Given the description of an element on the screen output the (x, y) to click on. 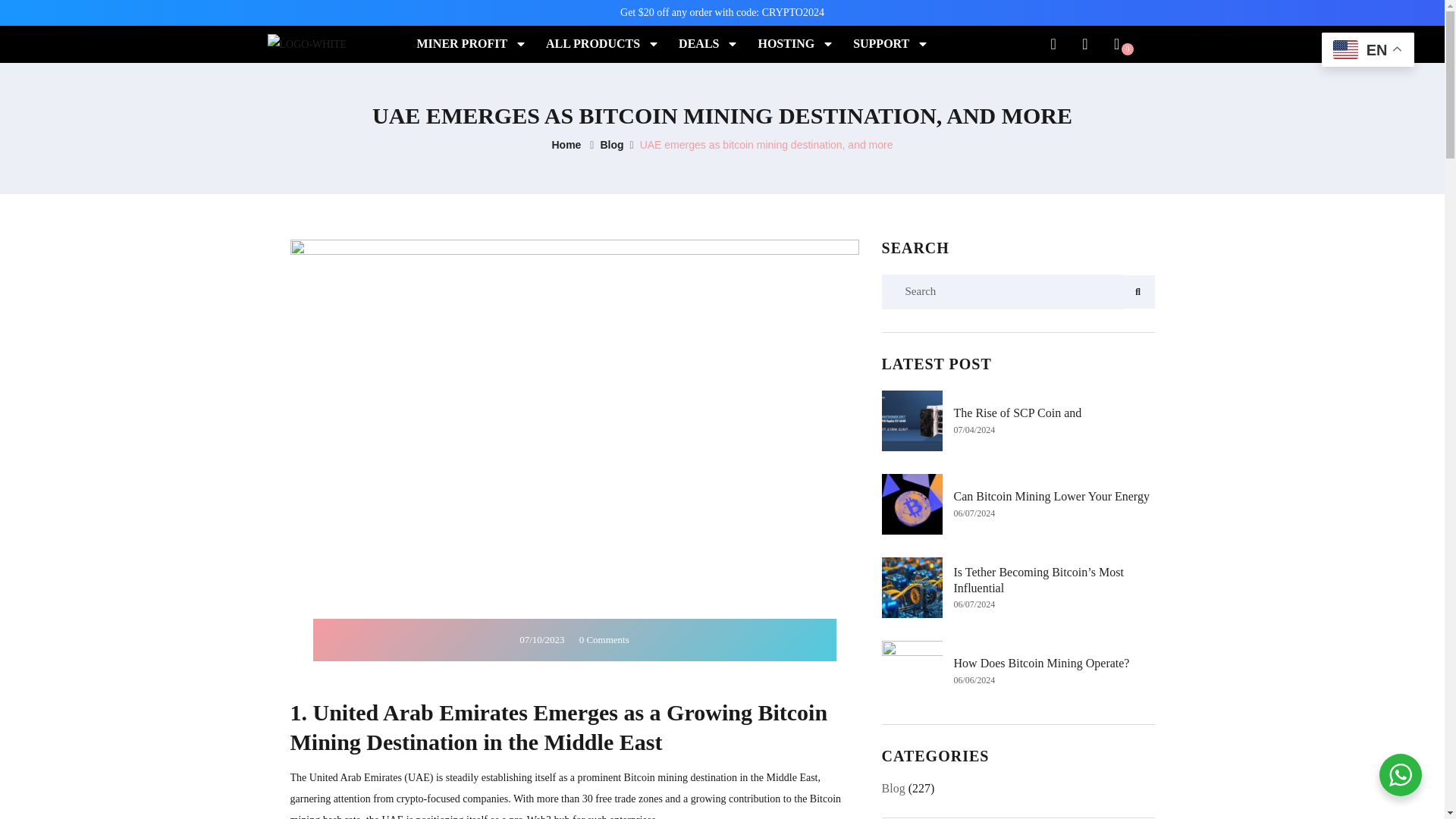
LOGO-WHITE (306, 44)
View your shopping cart (1116, 43)
Sign in (1084, 46)
